Given the description of an element on the screen output the (x, y) to click on. 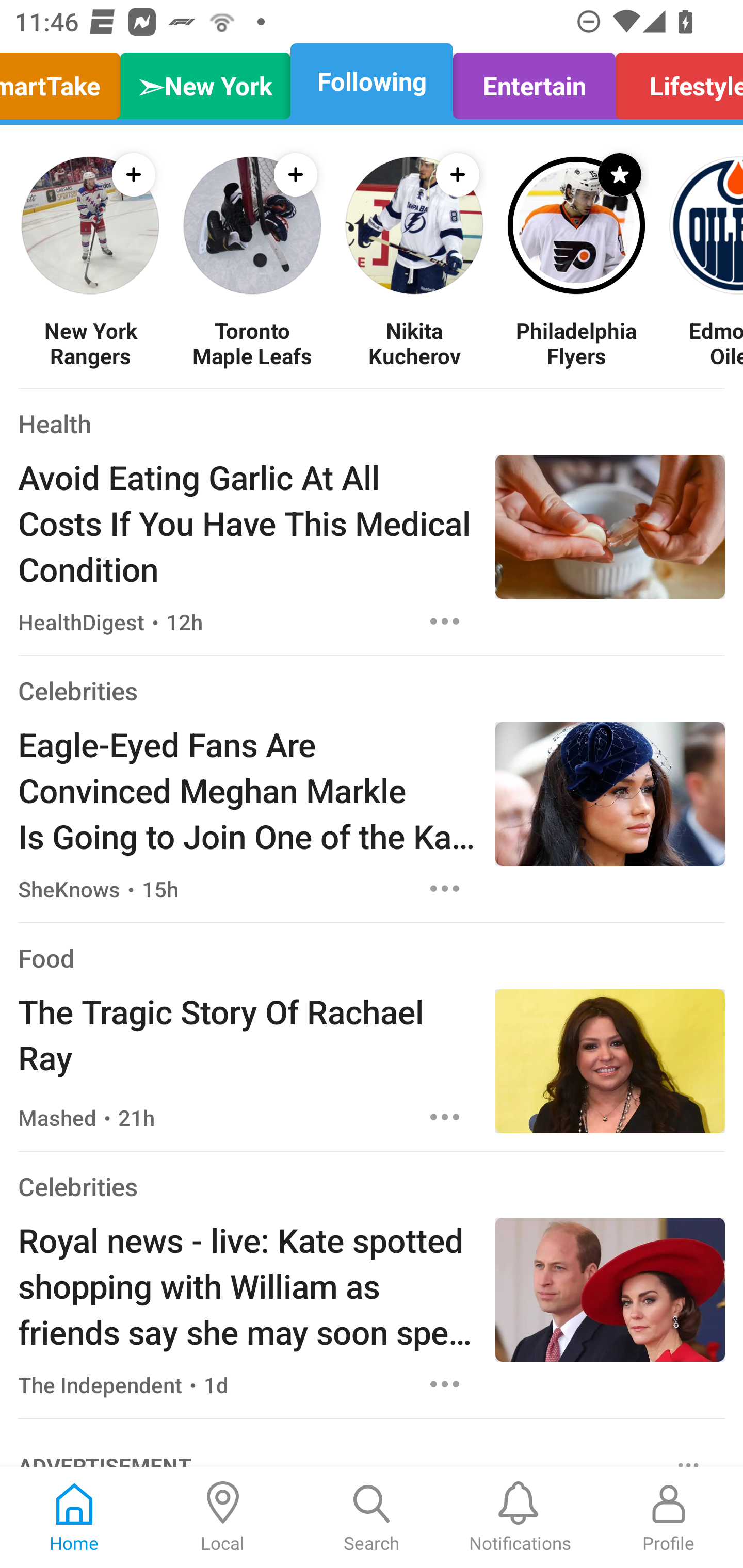
➣New York (205, 81)
Following (371, 81)
Entertain (534, 81)
New York Rangers (89, 342)
Toronto Maple Leafs (251, 342)
Nikita Kucherov (413, 342)
Philadelphia Flyers (575, 342)
Health (54, 423)
Options (444, 621)
Celebrities (77, 690)
Options (444, 889)
Food (46, 957)
Options (444, 1117)
Celebrities (77, 1185)
Options (444, 1384)
Local (222, 1517)
Search (371, 1517)
Notifications (519, 1517)
Profile (668, 1517)
